Given the description of an element on the screen output the (x, y) to click on. 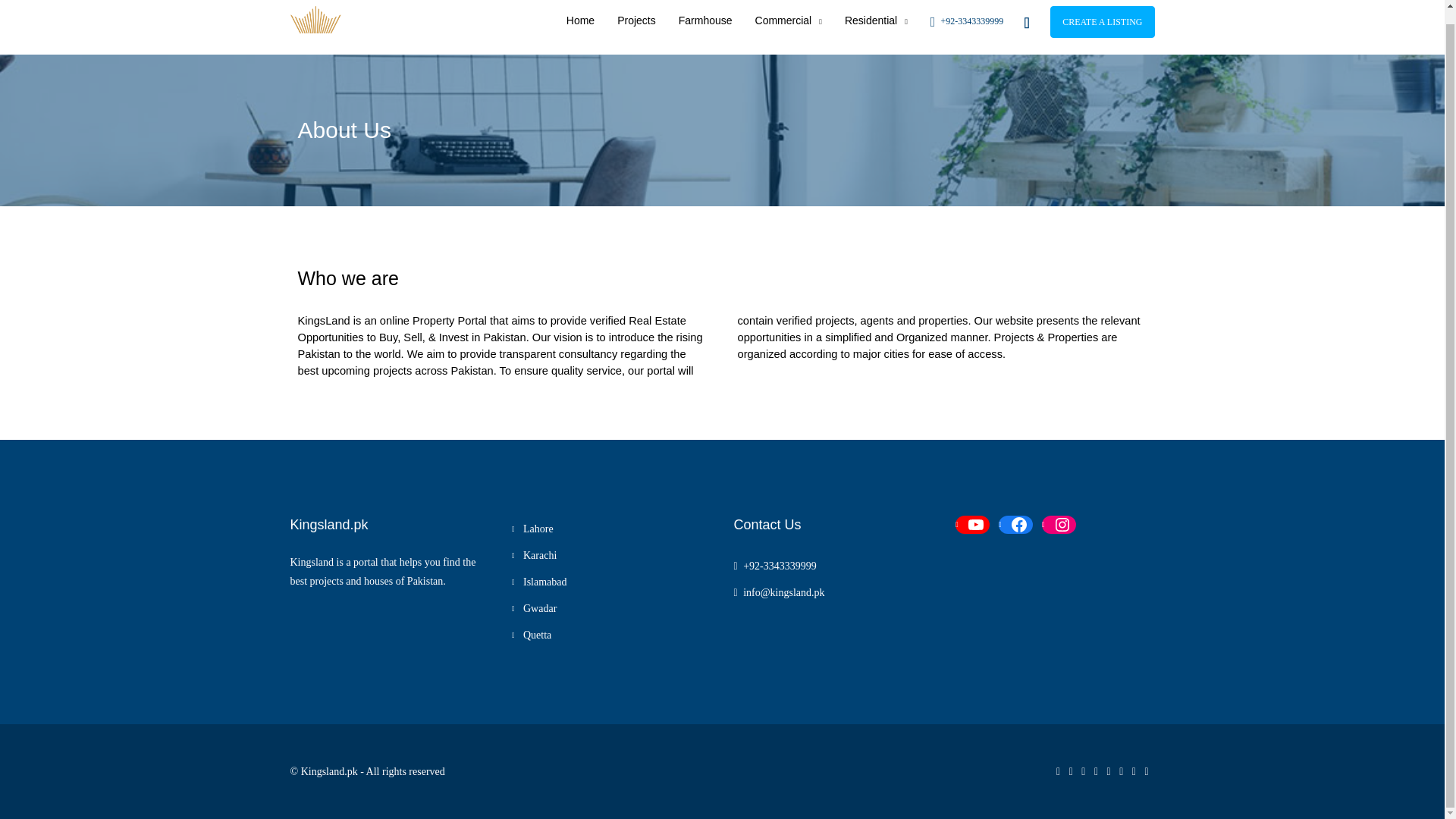
Commercial (788, 28)
Home (579, 27)
CREATE A LISTING (1101, 21)
Projects (635, 27)
Farmhouse (705, 27)
Quetta (531, 634)
Karachi (534, 555)
Gwadar (534, 608)
Lahore (532, 528)
Islamabad (539, 582)
